Given the description of an element on the screen output the (x, y) to click on. 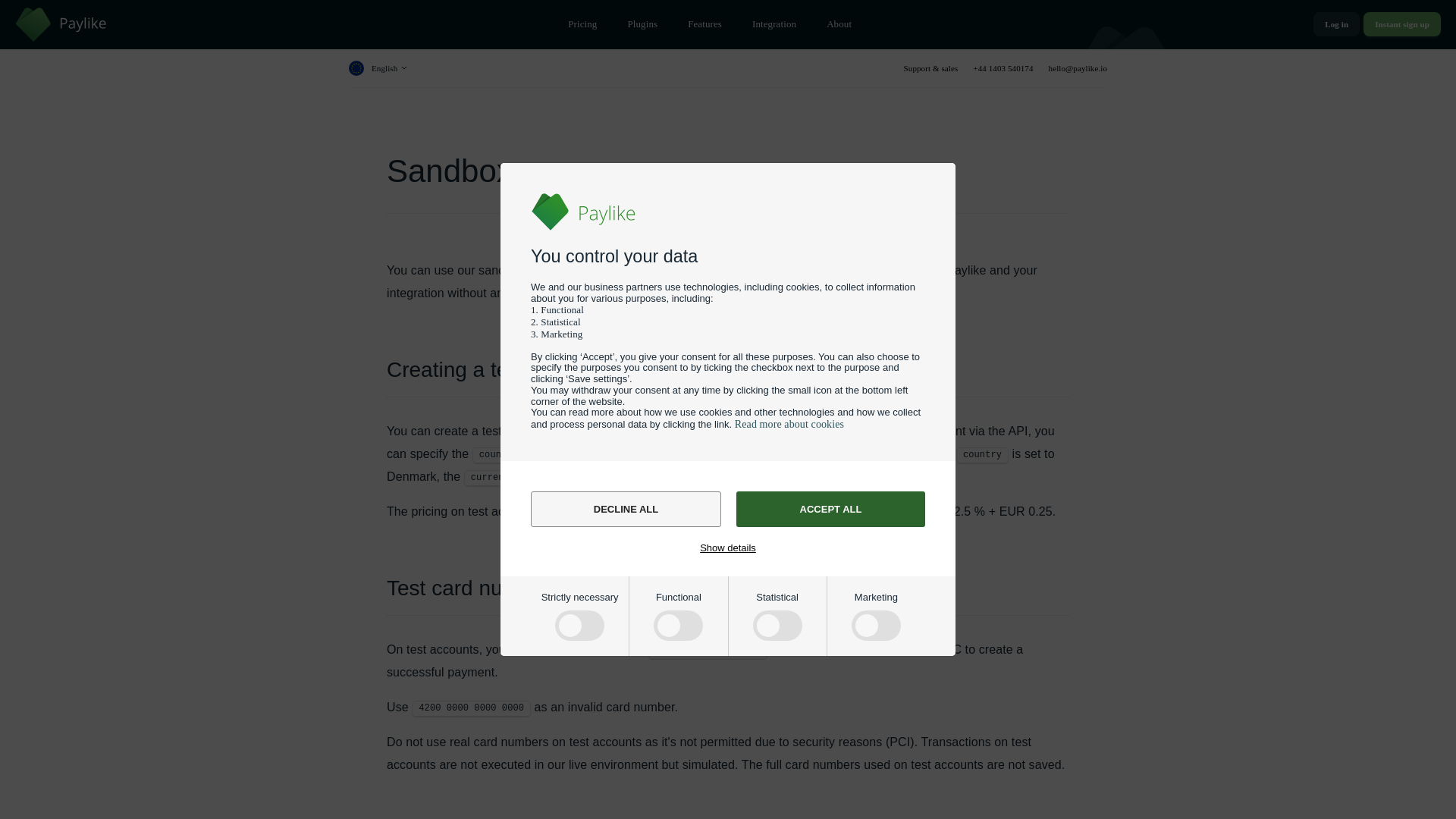
ACCEPT ALL (830, 509)
Show details (727, 546)
DECLINE ALL (625, 509)
Read more about cookies (789, 423)
